Given the description of an element on the screen output the (x, y) to click on. 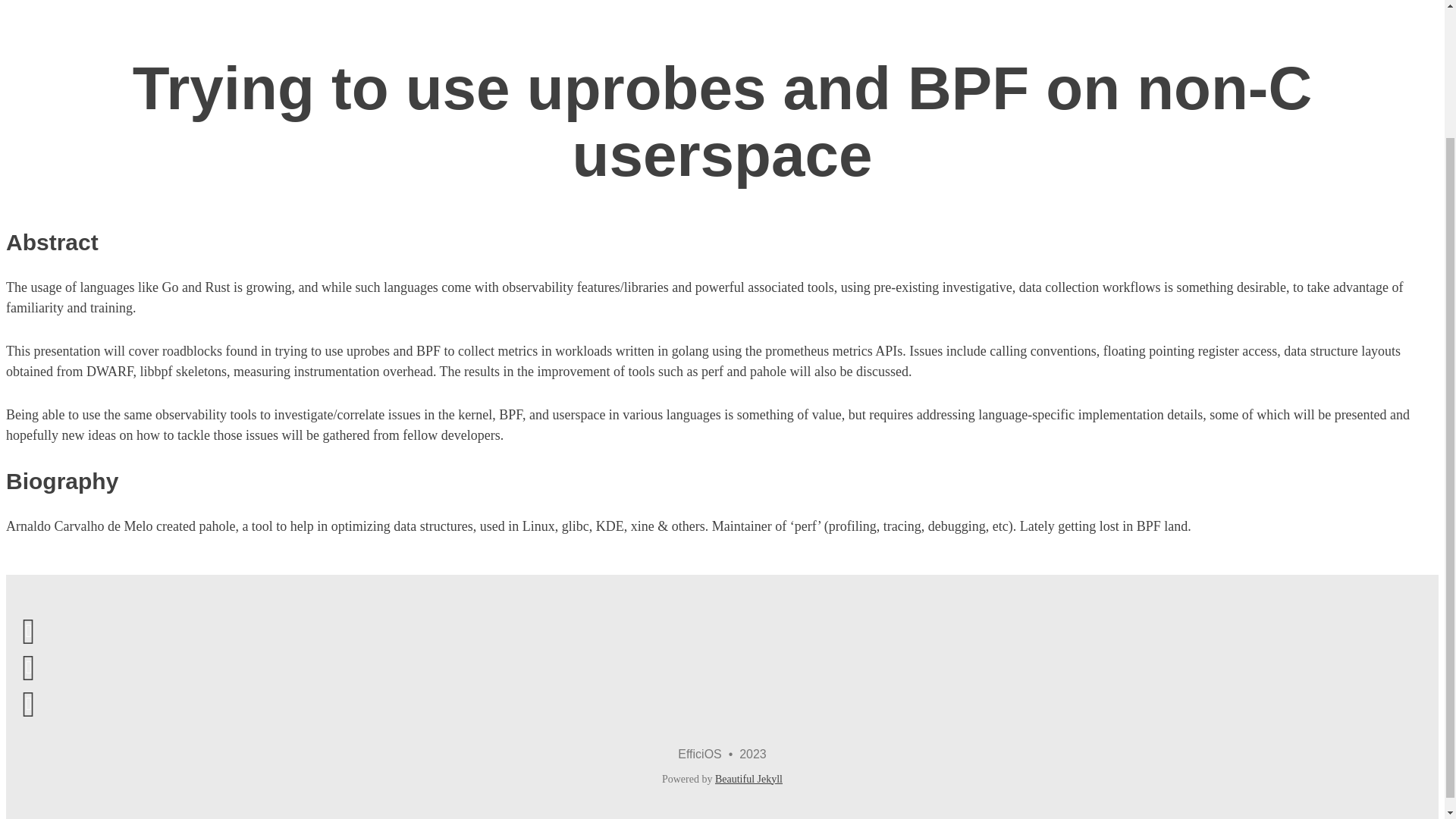
Twitter (27, 666)
Twitter (27, 666)
Beautiful Jekyll (748, 778)
YouTube (27, 702)
Email me (27, 630)
YouTube (27, 702)
Email me (27, 630)
